Given the description of an element on the screen output the (x, y) to click on. 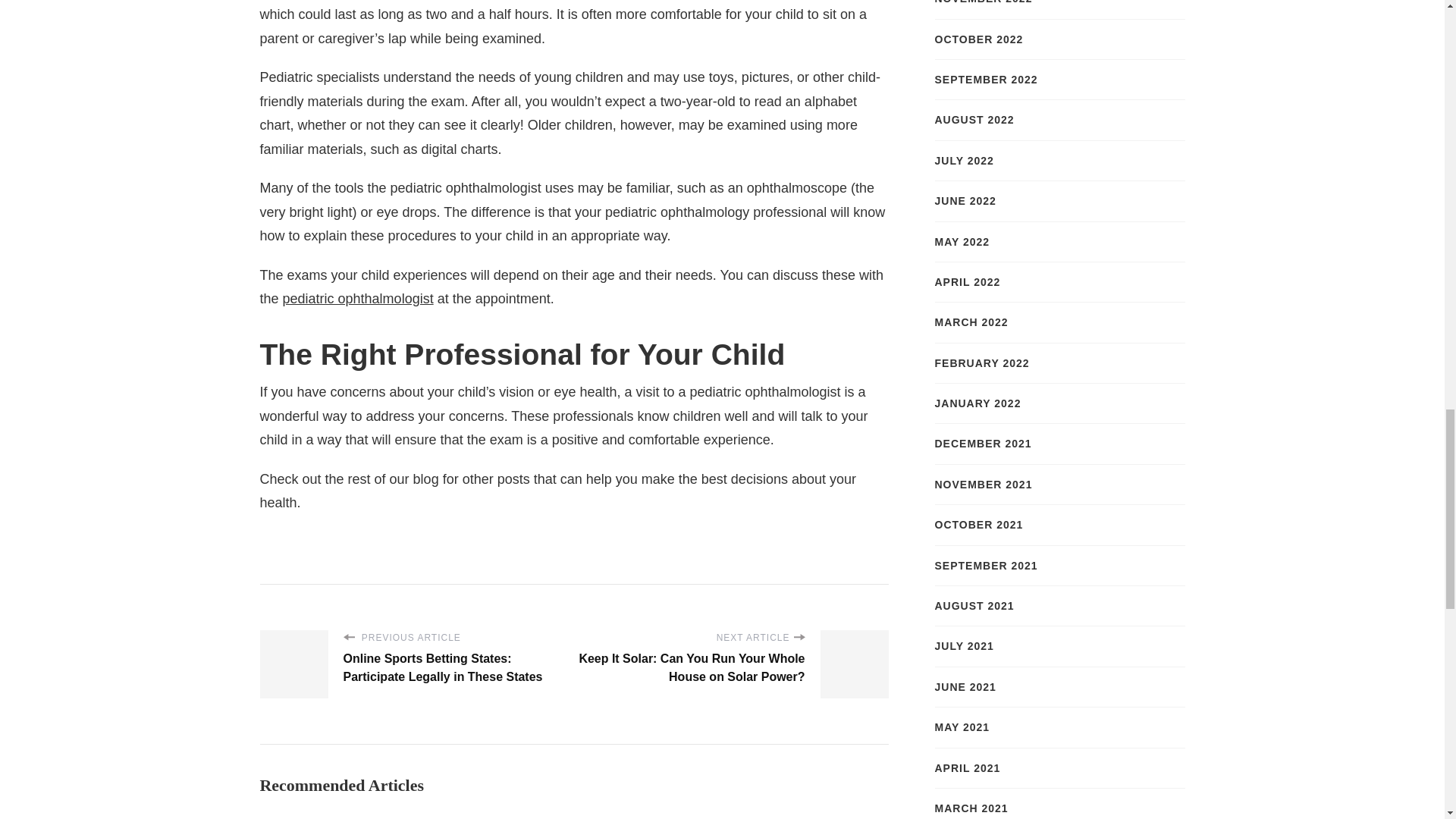
pediatric ophthalmologist (357, 298)
